Given the description of an element on the screen output the (x, y) to click on. 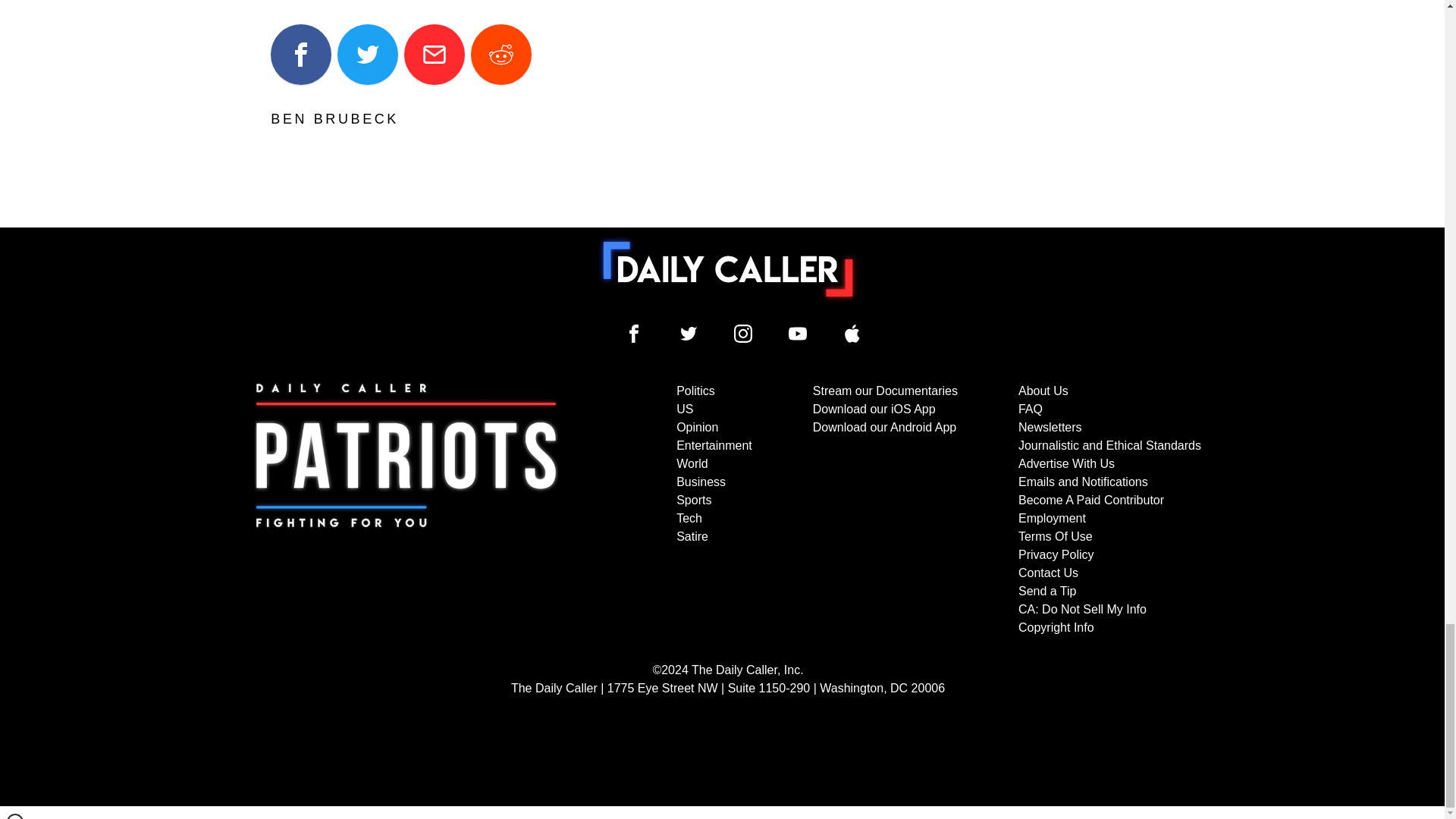
Daily Caller YouTube (852, 333)
Subscribe to The Daily Caller (405, 509)
Daily Caller Facebook (633, 333)
Daily Caller YouTube (797, 333)
Daily Caller Twitter (688, 333)
Daily Caller Instagram (742, 333)
To home page (727, 268)
